Given the description of an element on the screen output the (x, y) to click on. 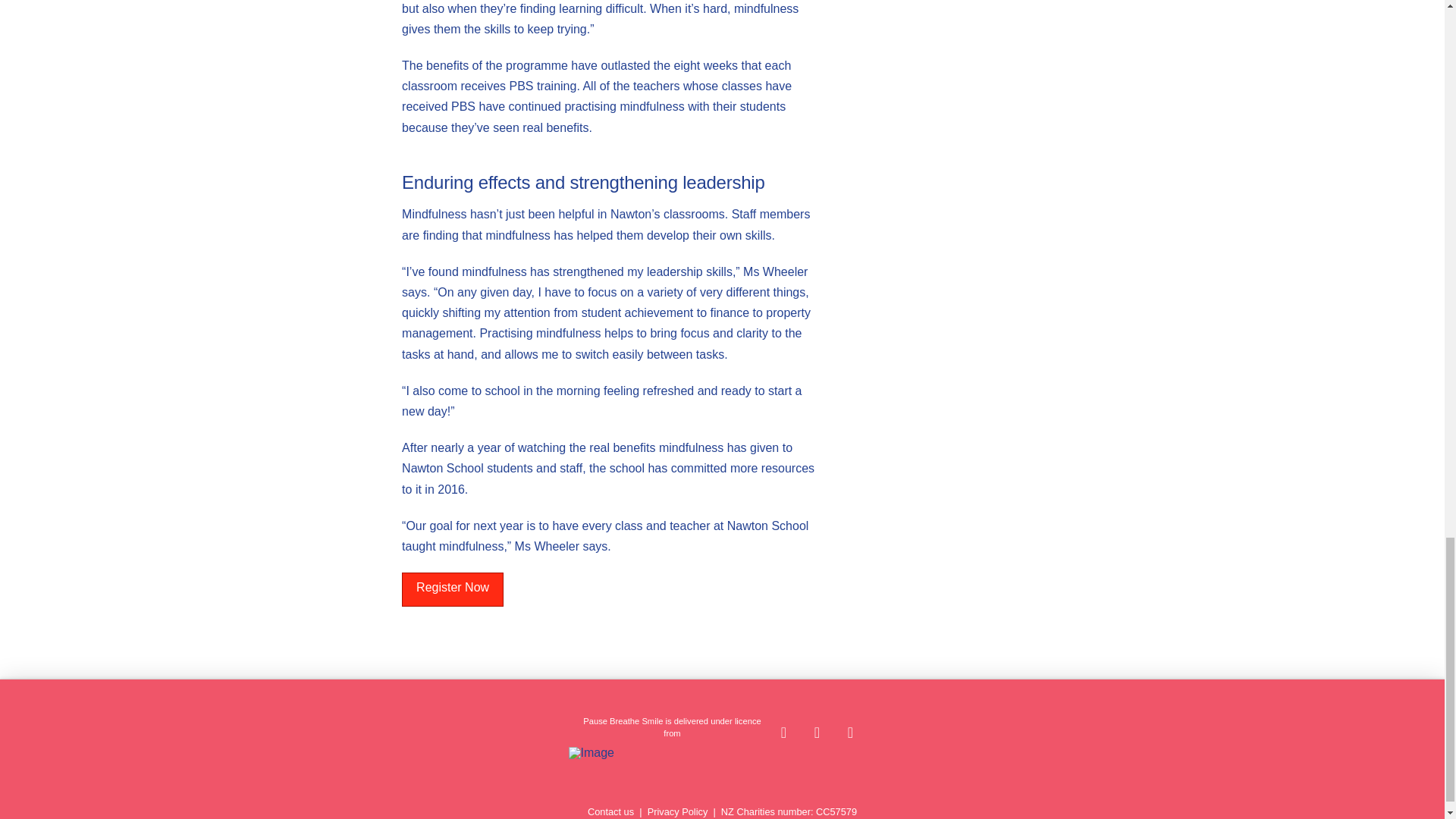
Privacy Policy (677, 811)
Register Now (452, 589)
Contact us (610, 811)
